Given the description of an element on the screen output the (x, y) to click on. 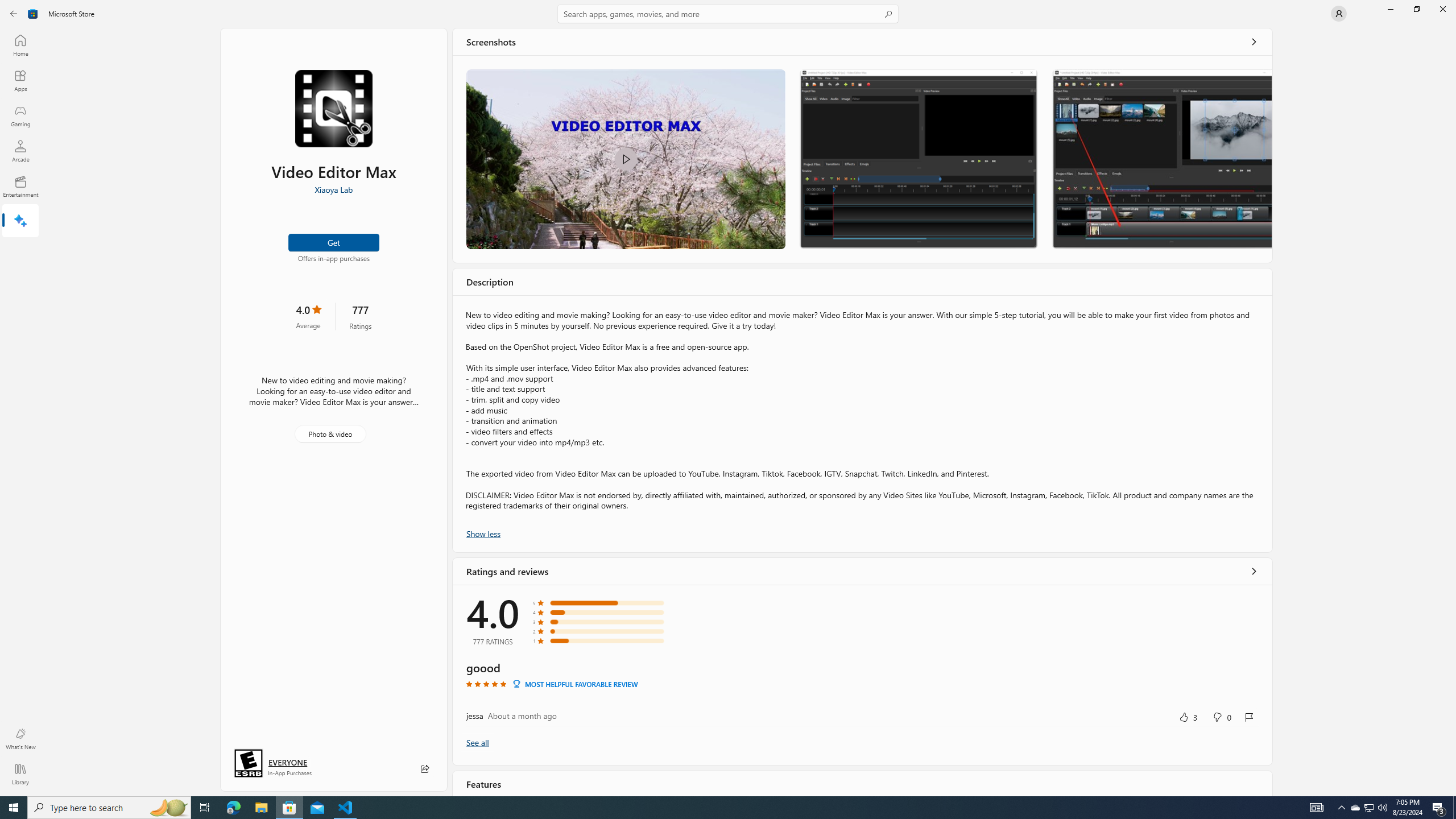
Gaming (20, 115)
Close Microsoft Store (1442, 9)
Apps (20, 80)
